Given the description of an element on the screen output the (x, y) to click on. 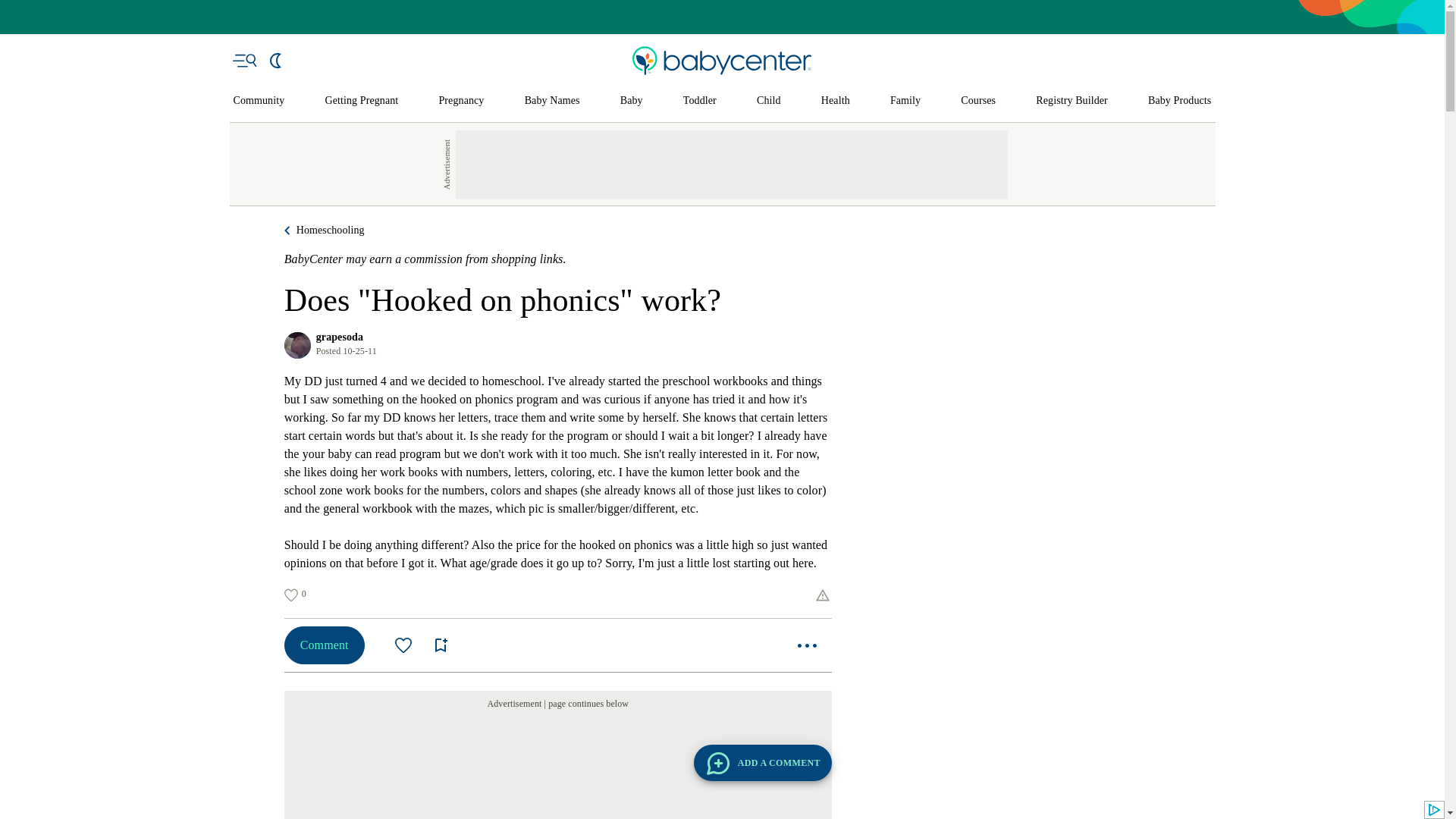
Health (835, 101)
Registry Builder (1071, 101)
Child (768, 101)
Toddler (699, 101)
Community (258, 101)
Baby Products (1179, 101)
Baby Names (551, 101)
Getting Pregnant (360, 101)
Family (904, 101)
Pregnancy (460, 101)
